Given the description of an element on the screen output the (x, y) to click on. 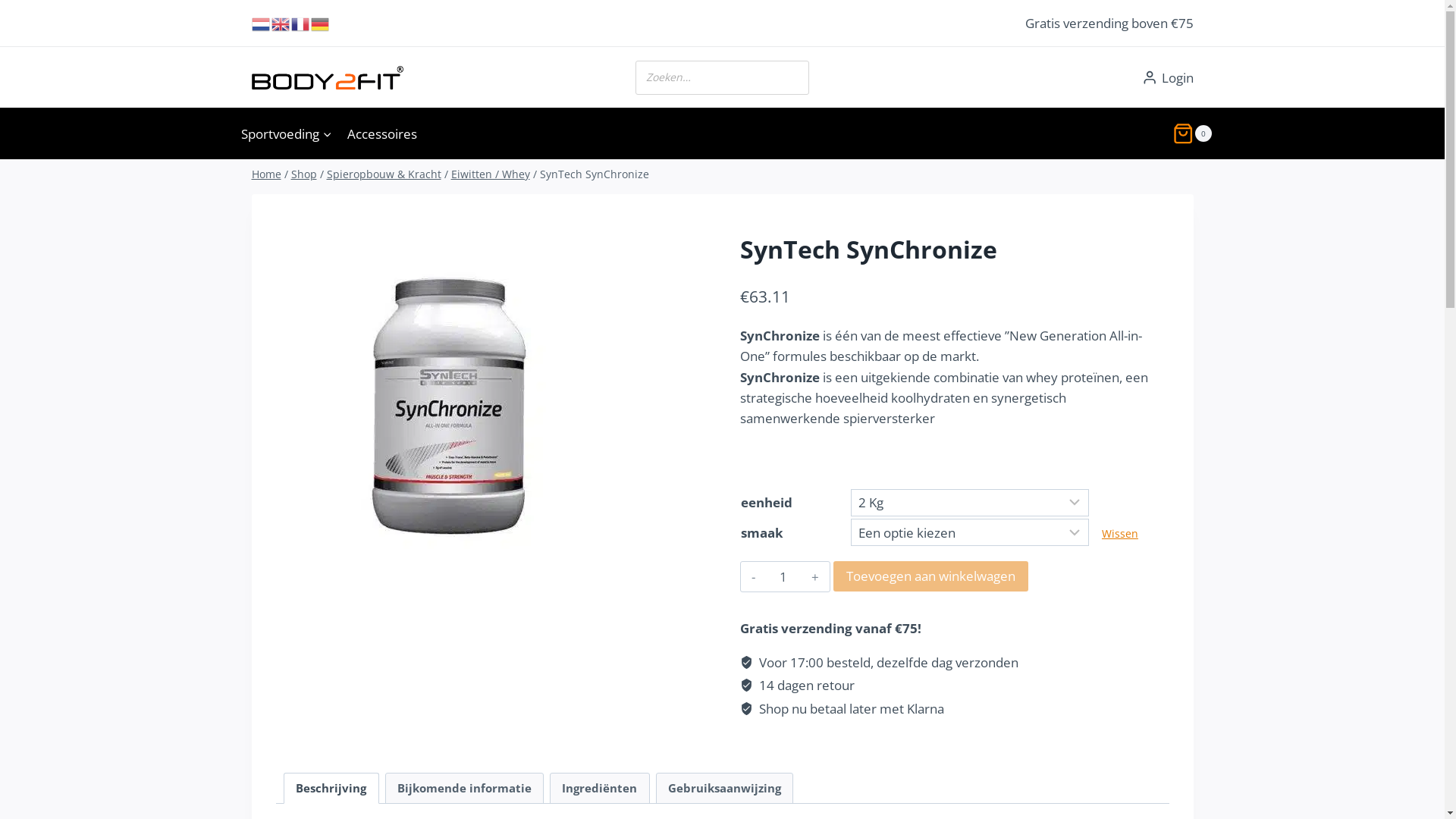
Sportvoeding Element type: text (286, 133)
Eiwitten / Whey Element type: text (489, 173)
Home Element type: text (266, 173)
0 Element type: text (1191, 133)
Bijkomende informatie Element type: text (464, 788)
Login Element type: text (1167, 77)
Beschrijving Element type: text (331, 788)
SynChronize-Syntech Element type: hover (452, 394)
Toevoegen aan winkelwagen Element type: text (930, 576)
Gebruiksaanwijzing Element type: text (724, 788)
Wissen Element type: text (1119, 533)
Nederlands Element type: hover (261, 22)
Spieropbouw & Kracht Element type: text (383, 173)
English Element type: hover (281, 22)
Accessoires Element type: text (381, 133)
Shop Element type: text (303, 173)
Deutsch Element type: hover (320, 22)
